Given the description of an element on the screen output the (x, y) to click on. 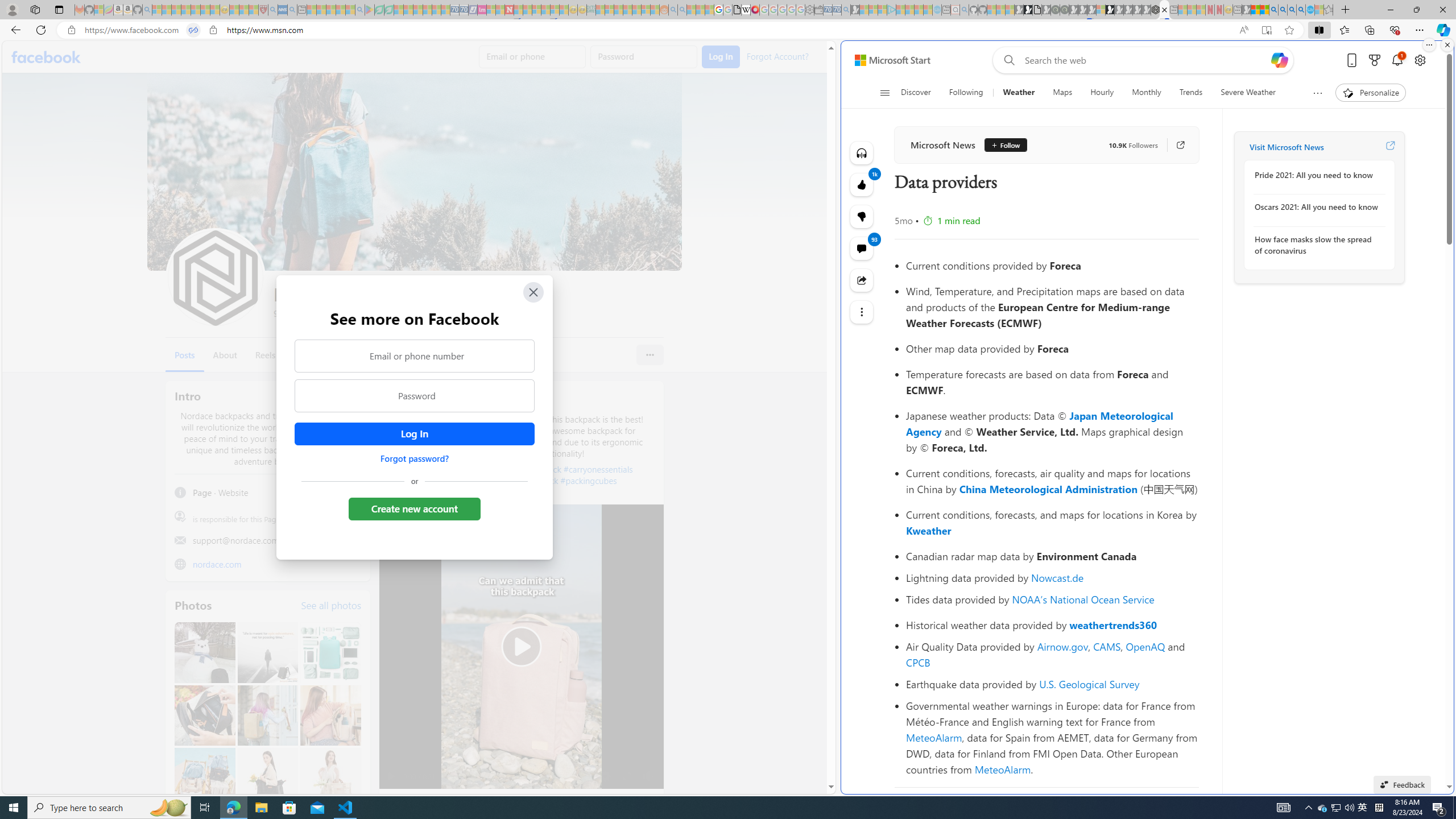
Accessible login button (414, 433)
Following (965, 92)
Microsoft account | Privacy - Sleeping (882, 9)
Sign in to your account - Sleeping (1100, 9)
Feedback (1402, 784)
Close (532, 291)
MSN - Sleeping (1246, 9)
Severe Weather (1247, 92)
Web search (1007, 60)
Cheap Hotels - Save70.com - Sleeping (463, 9)
Add this page to favorites (Ctrl+D) (1289, 29)
Workspaces (34, 9)
CAMS (1107, 646)
